Given the description of an element on the screen output the (x, y) to click on. 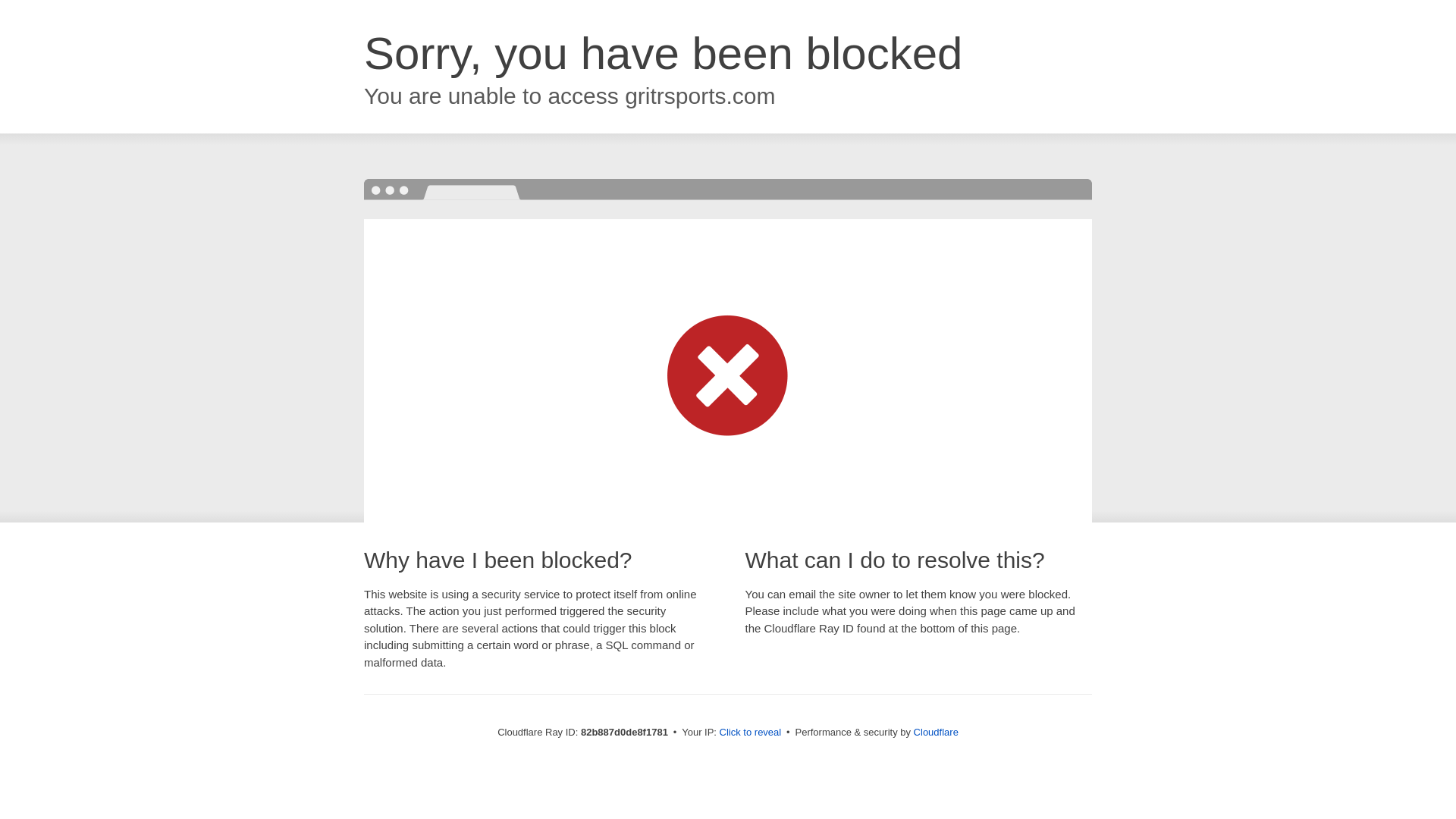
Click to reveal Element type: text (750, 732)
Cloudflare Element type: text (935, 731)
